Given the description of an element on the screen output the (x, y) to click on. 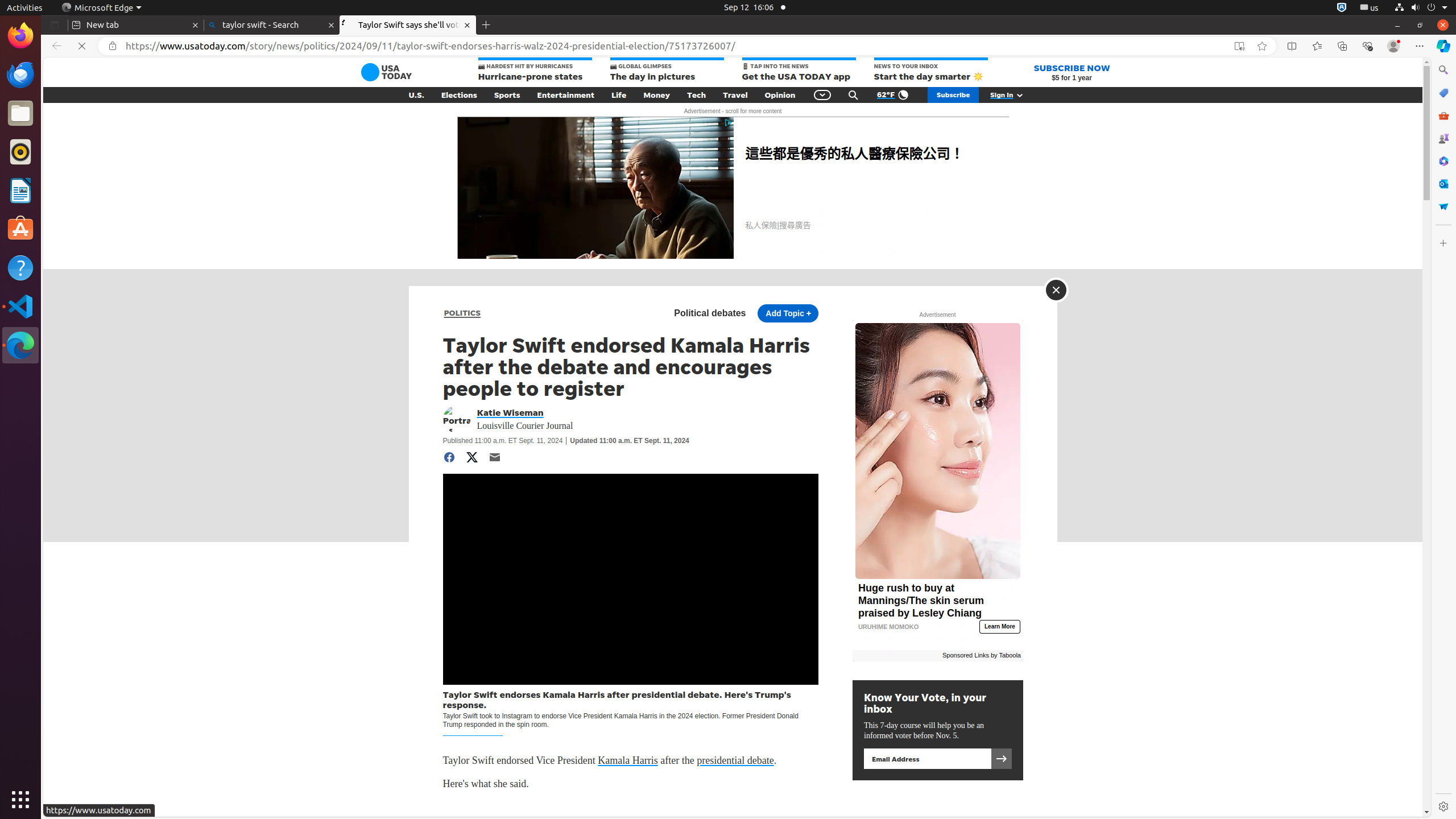
Microsoft 365 Element type: push-button (1443, 160)
Help Element type: push-button (20, 267)
Weather: 62°F Clear Element type: link (893, 94)
Sports Element type: link (506, 94)
:1.72/StatusNotifierItem Element type: menu (1341, 7)
